Given the description of an element on the screen output the (x, y) to click on. 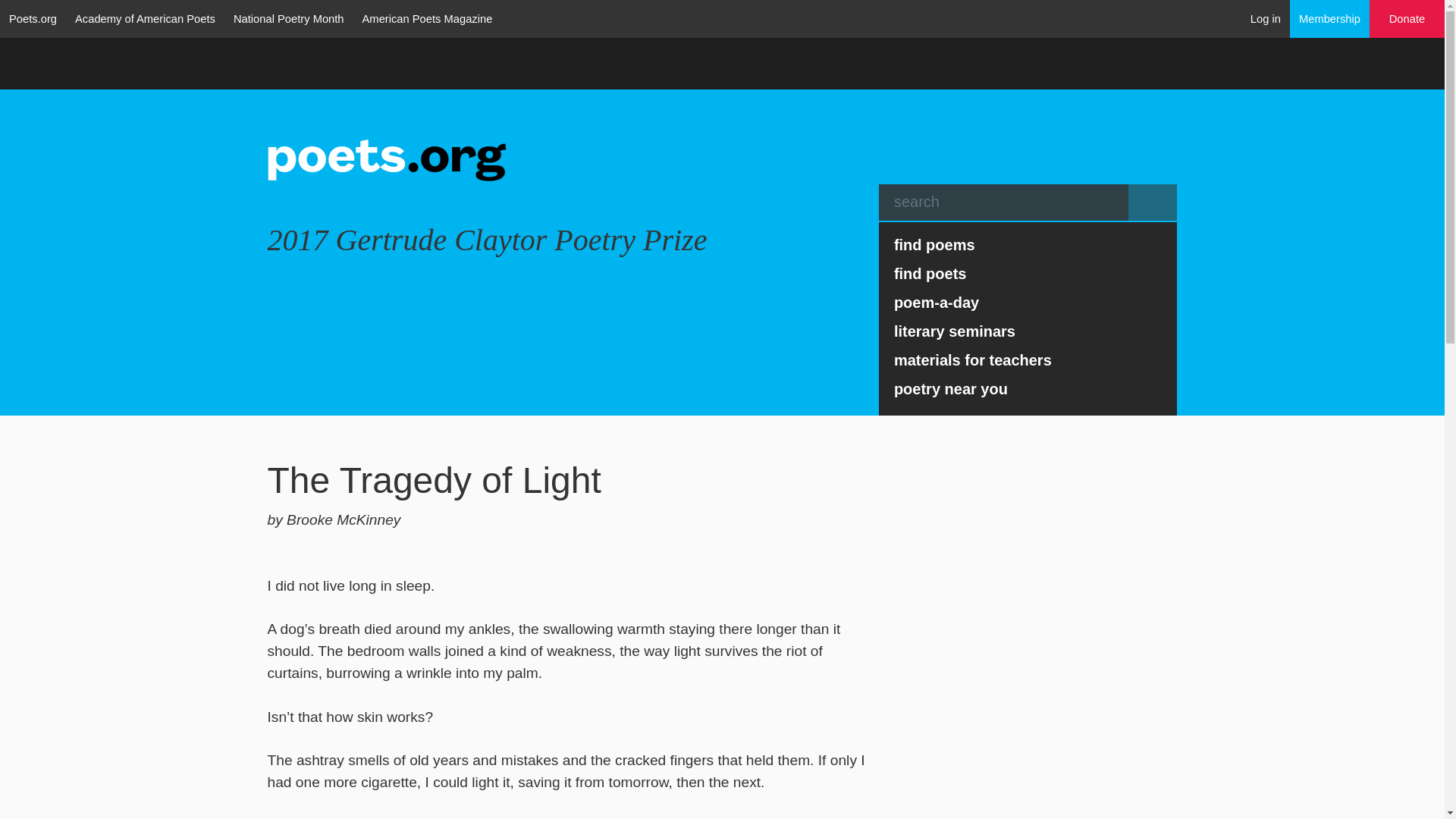
Donate (1407, 18)
Poets.org (32, 18)
poetry near you (1028, 388)
poem-a-day (1028, 302)
literary seminars (1028, 330)
Submit (1152, 201)
Academy of American Poets (144, 18)
Log in (1265, 18)
find poems (1028, 244)
literary seminars (1028, 330)
